Given the description of an element on the screen output the (x, y) to click on. 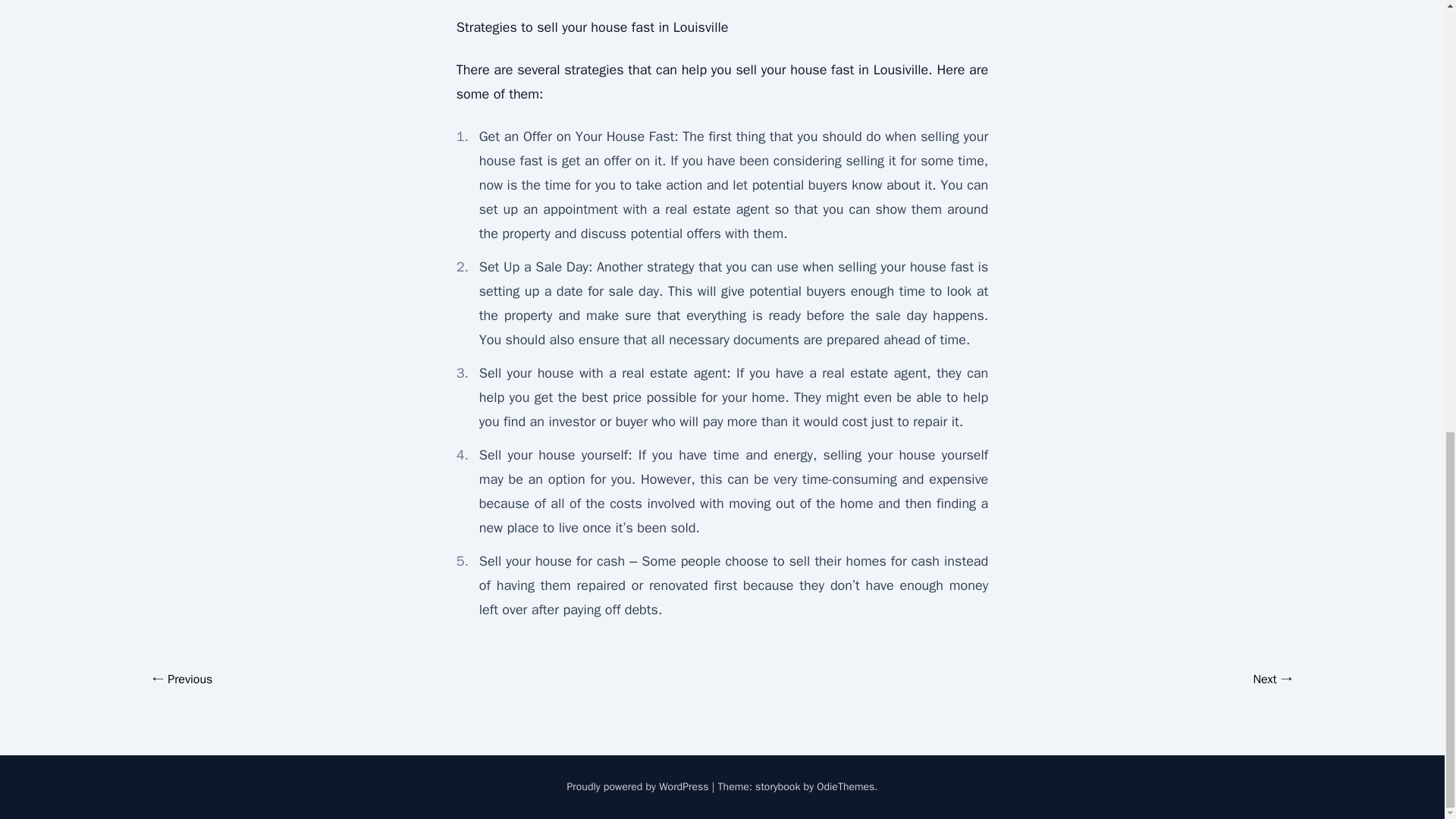
OdieThemes (845, 786)
Proudly powered by WordPress (639, 786)
